Given the description of an element on the screen output the (x, y) to click on. 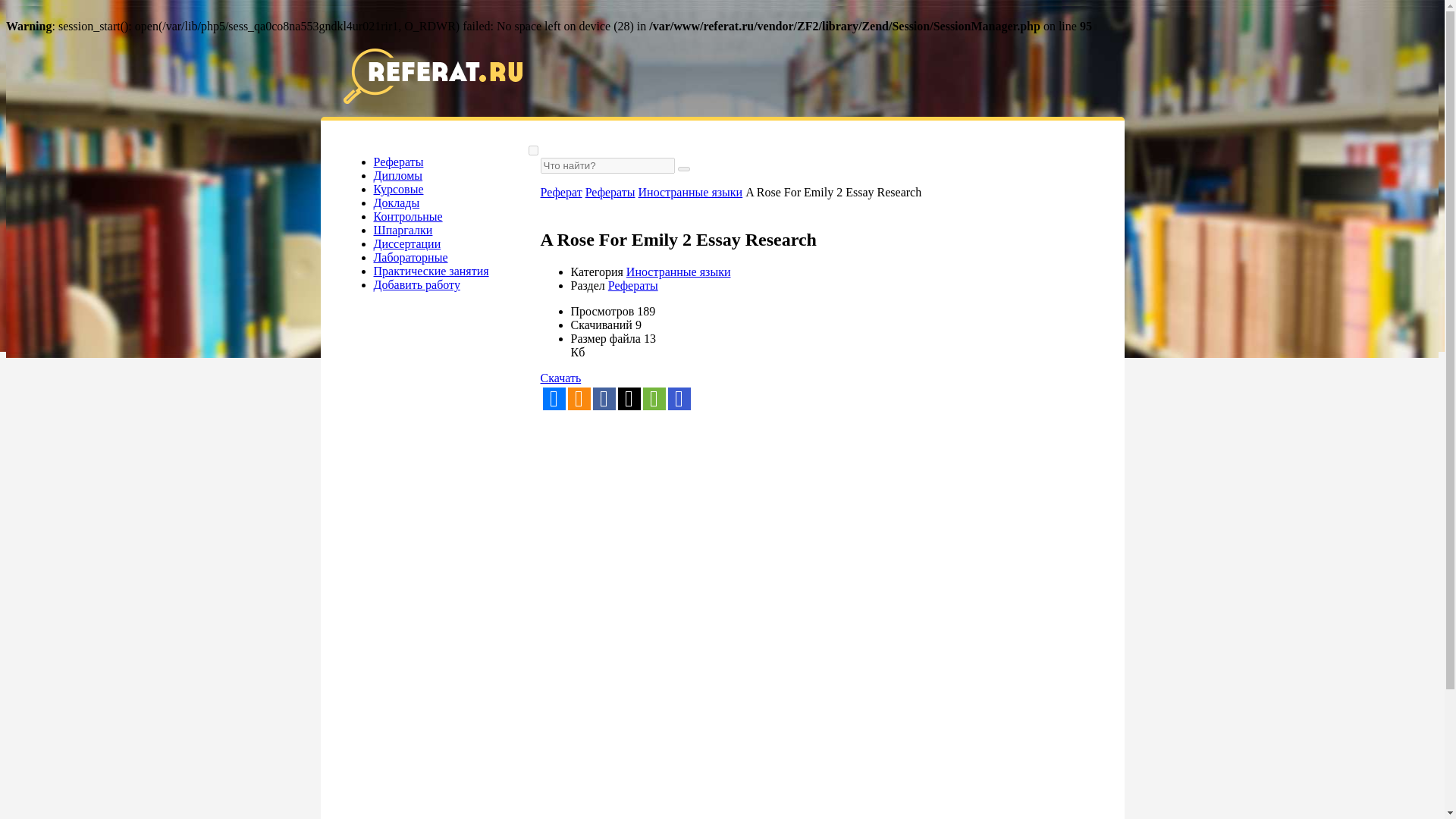
on (532, 150)
